Given the description of an element on the screen output the (x, y) to click on. 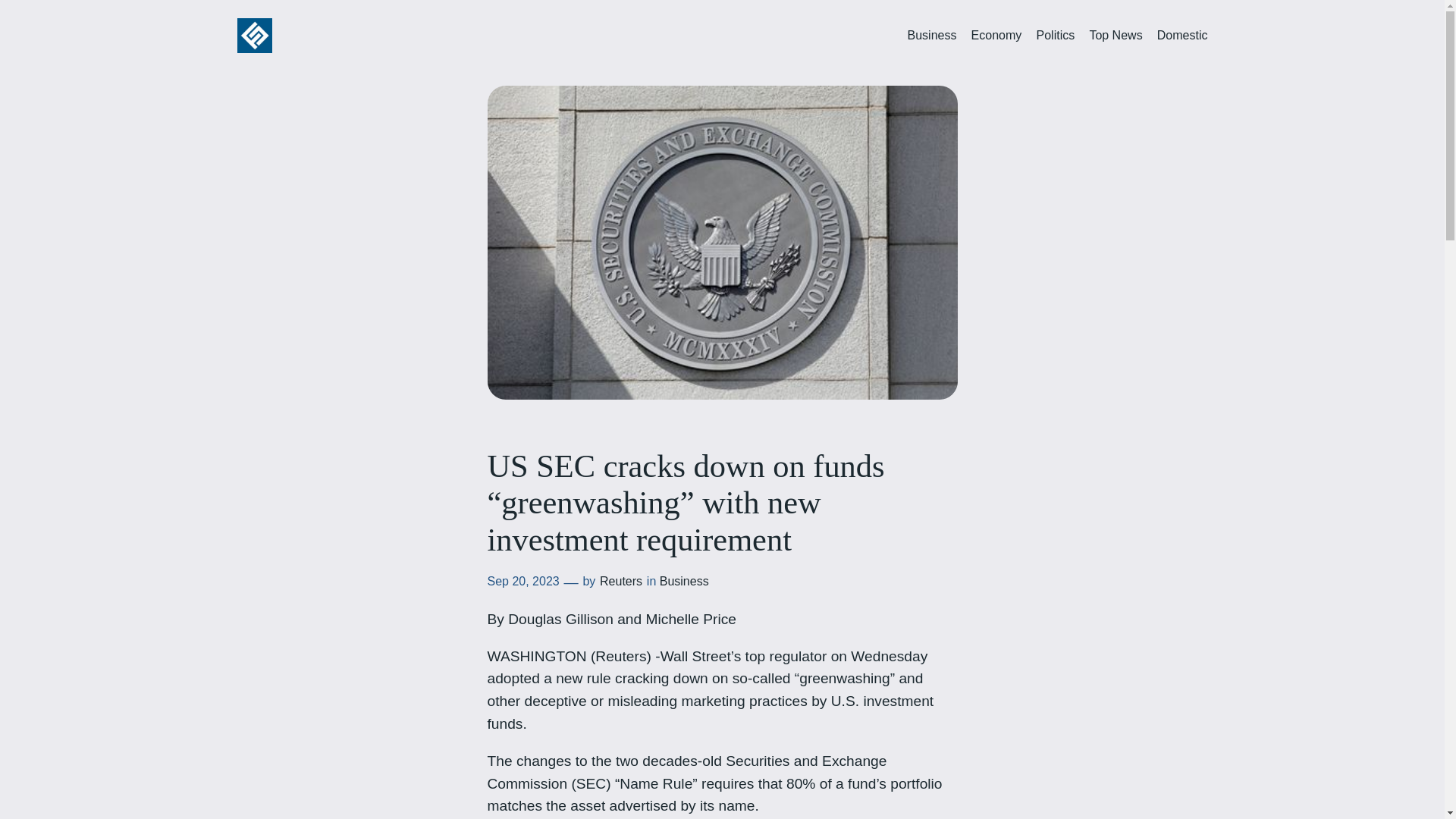
Business (684, 581)
Reuters (620, 581)
Top News (1115, 35)
Domestic (1182, 35)
Business (931, 35)
Economy (996, 35)
Politics (1054, 35)
Sep 20, 2023 (522, 581)
